Given the description of an element on the screen output the (x, y) to click on. 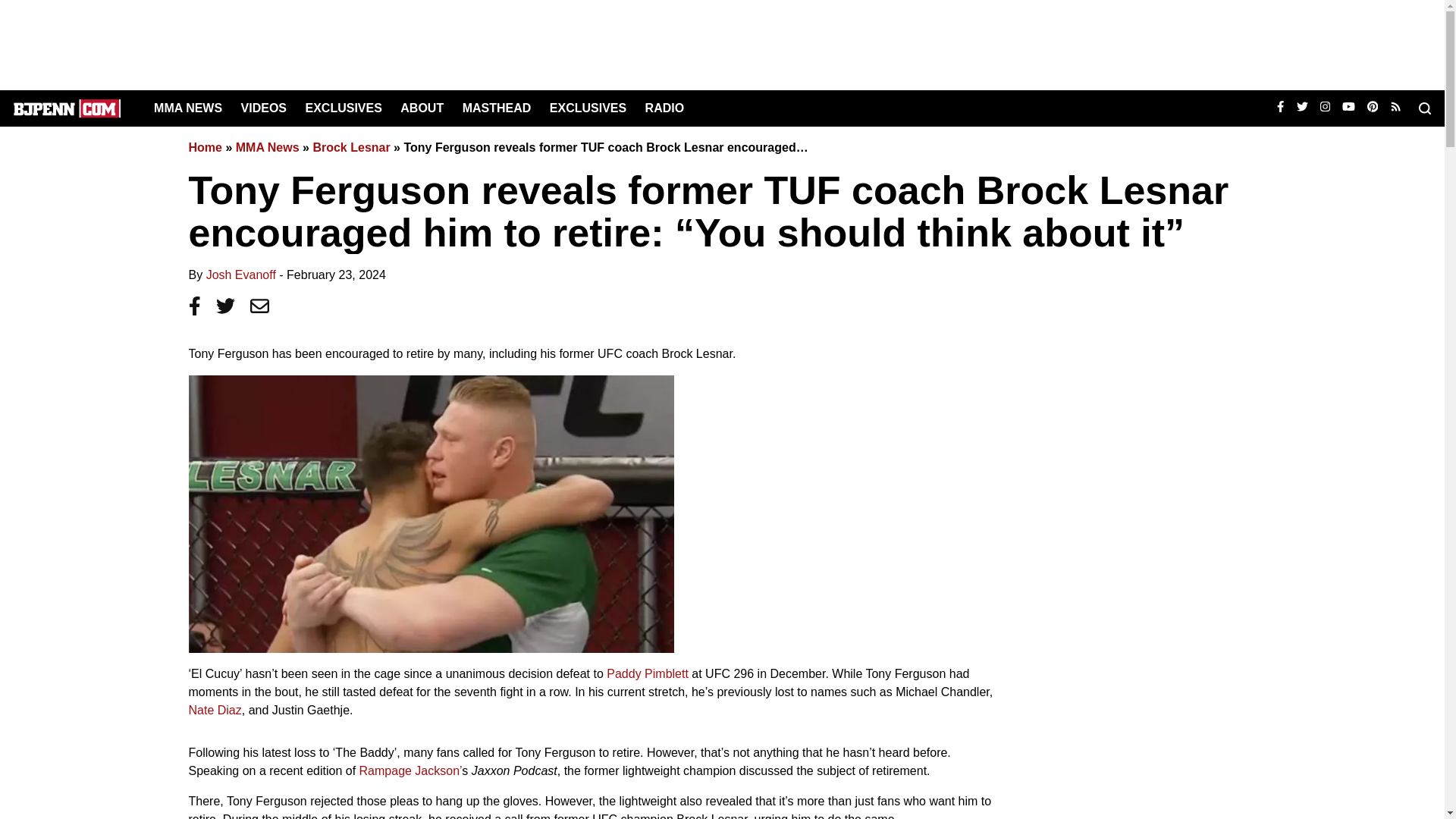
ABOUT (422, 107)
VIDEOS (263, 107)
RADIO (664, 107)
EXCLUSIVES (342, 107)
EXCLUSIVES (588, 107)
MASTHEAD (497, 107)
MMA NEWS (188, 107)
